Given the description of an element on the screen output the (x, y) to click on. 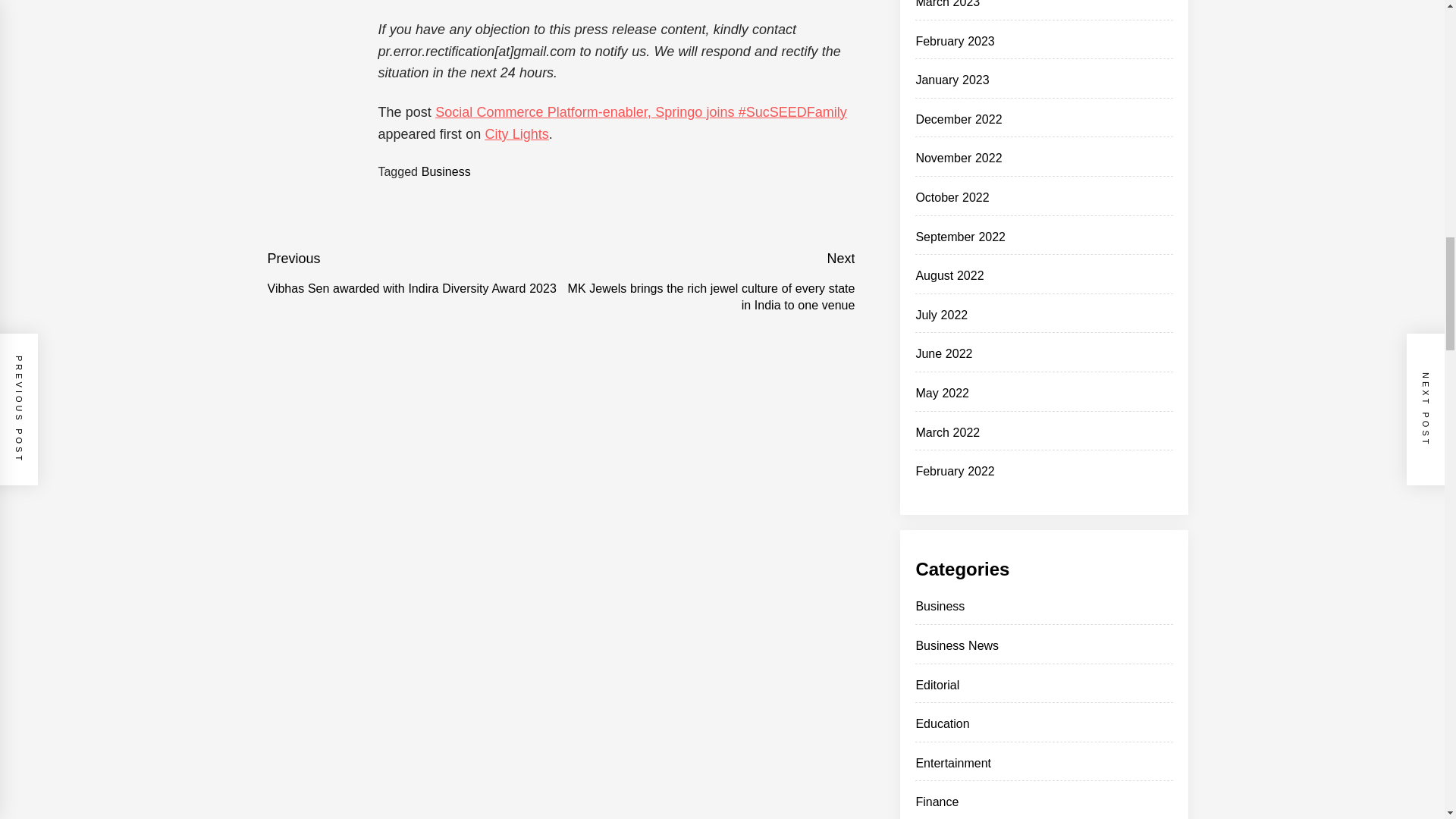
City Lights (516, 133)
Business (446, 171)
